Given the description of an element on the screen output the (x, y) to click on. 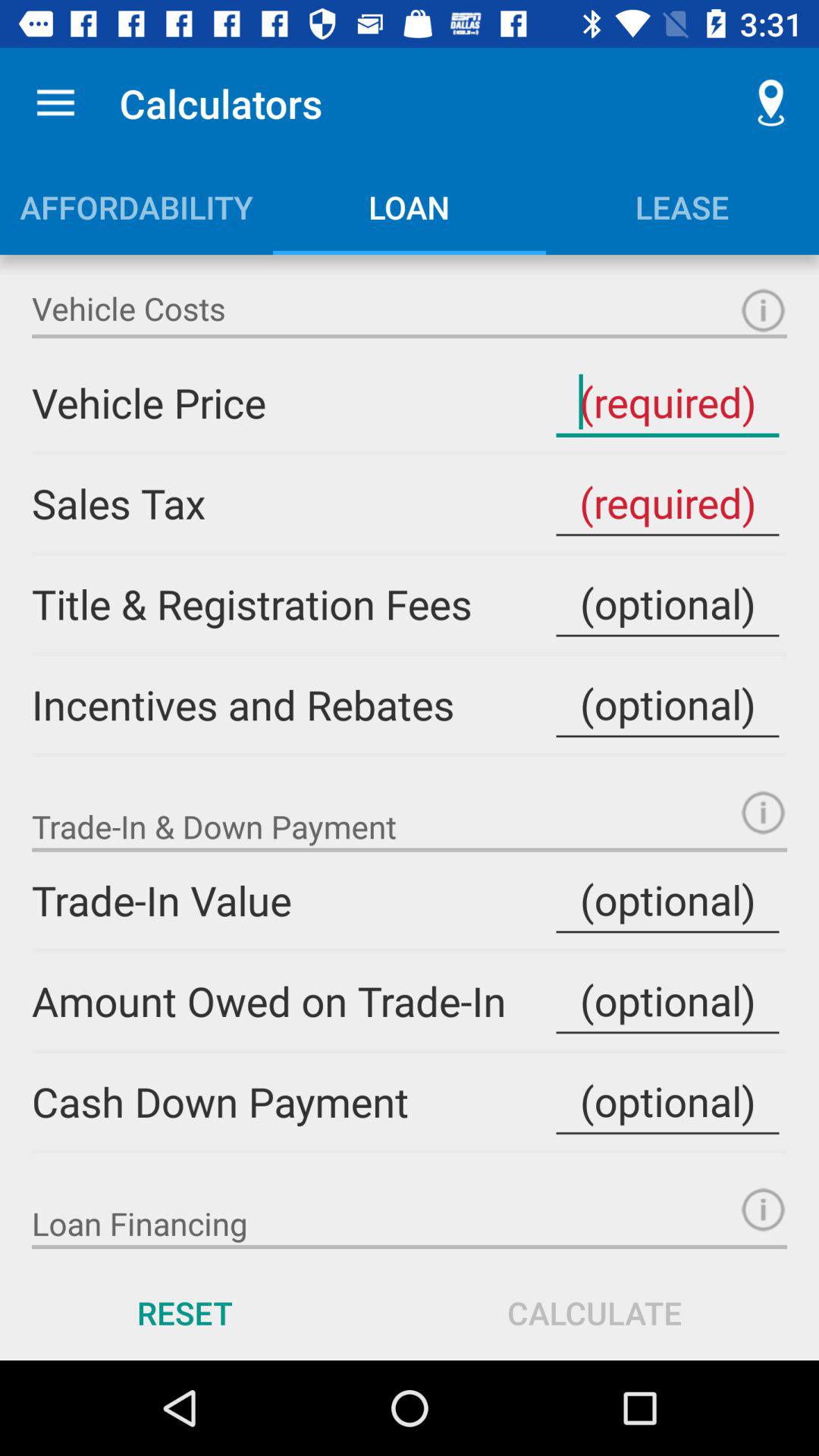
turn on the icon next to reset (594, 1312)
